Given the description of an element on the screen output the (x, y) to click on. 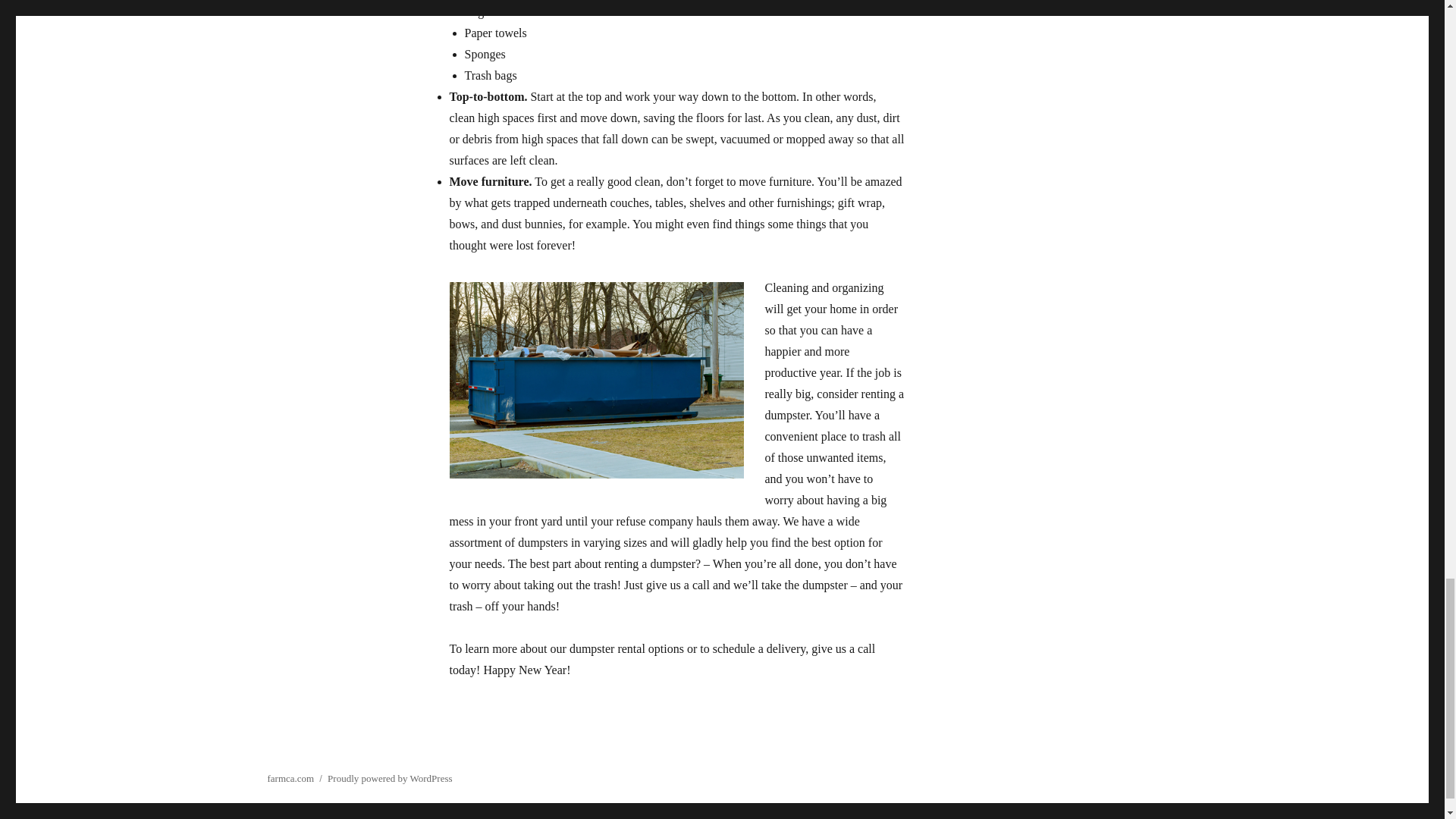
Blue Dumpster Rental on Long Island (595, 379)
farmca.com (290, 778)
Proudly powered by WordPress (389, 778)
